Given the description of an element on the screen output the (x, y) to click on. 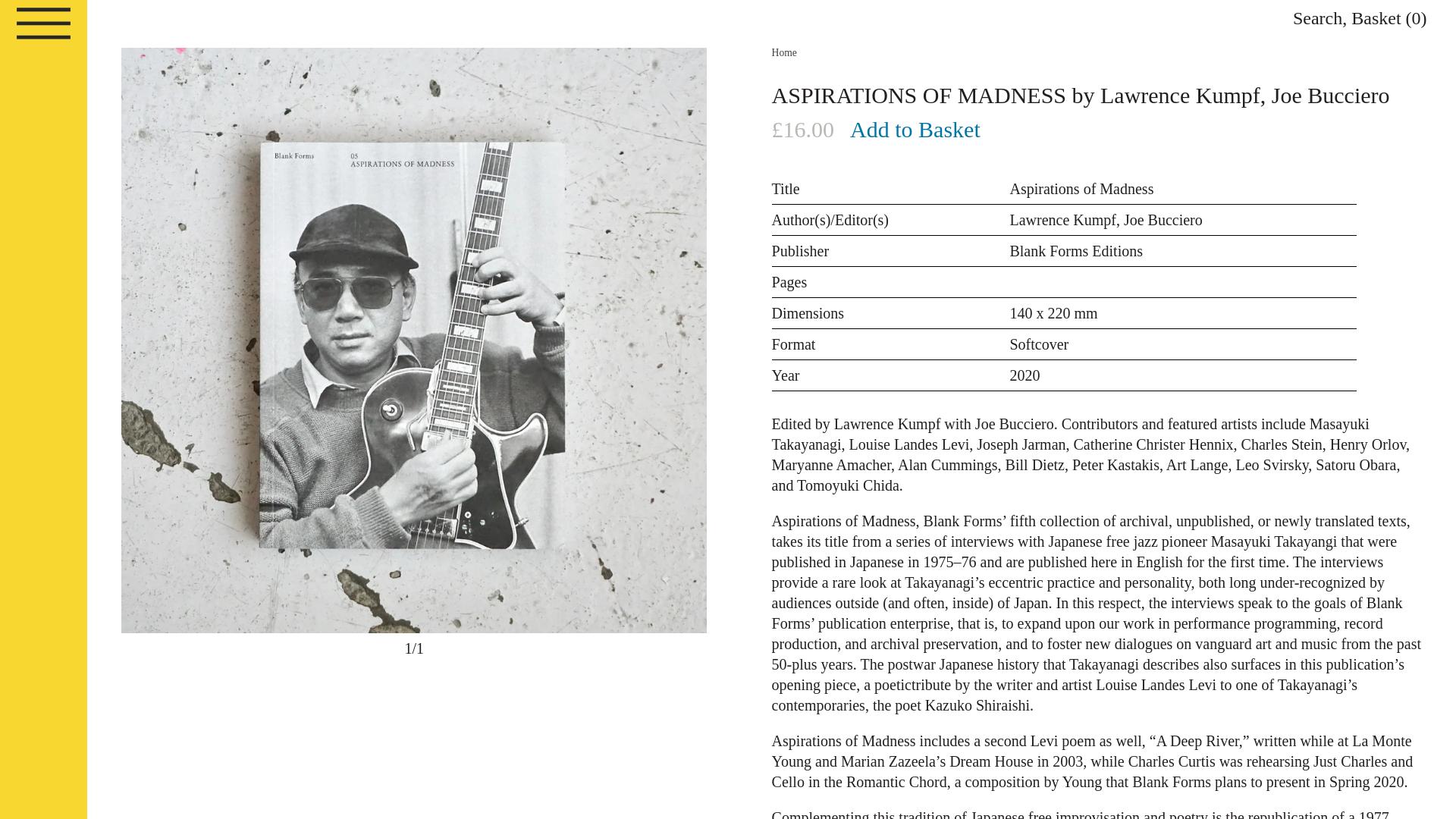
Home (783, 52)
Add to Basket (915, 129)
Search (1317, 17)
Add to Basket (915, 129)
